Given the description of an element on the screen output the (x, y) to click on. 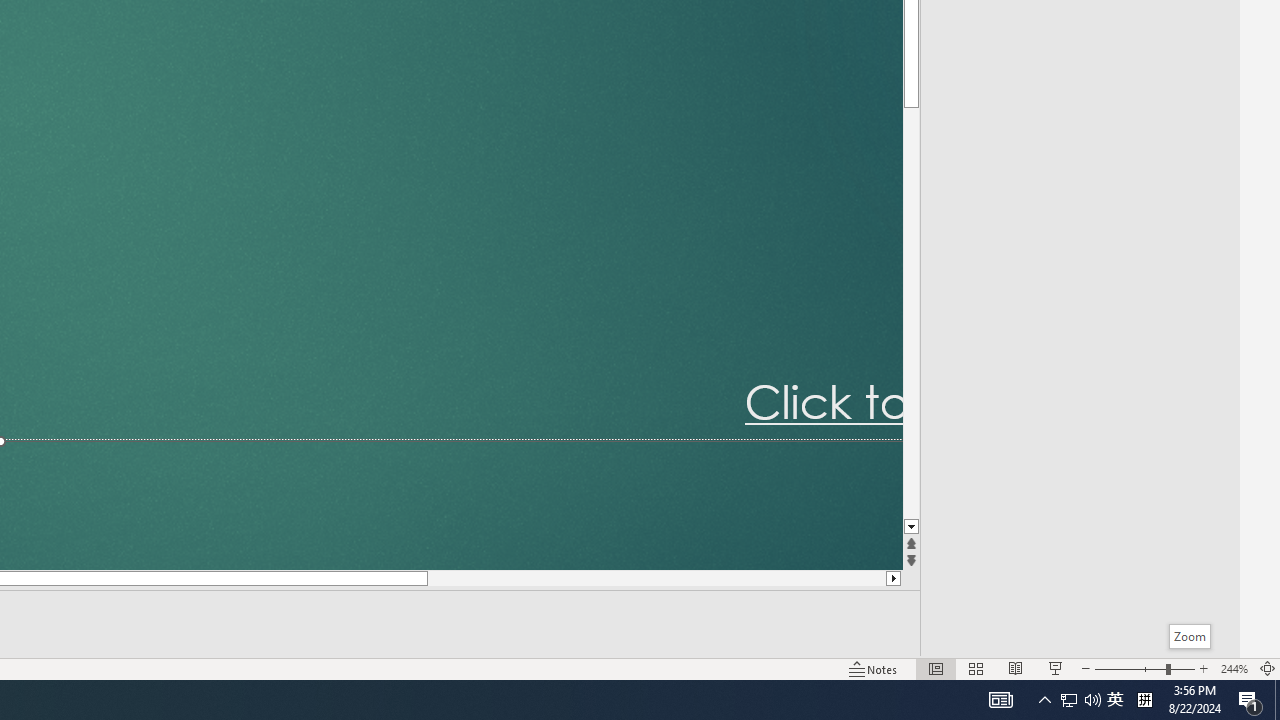
Page down (911, 313)
Line down (911, 527)
Zoom 244% (1234, 668)
